Given the description of an element on the screen output the (x, y) to click on. 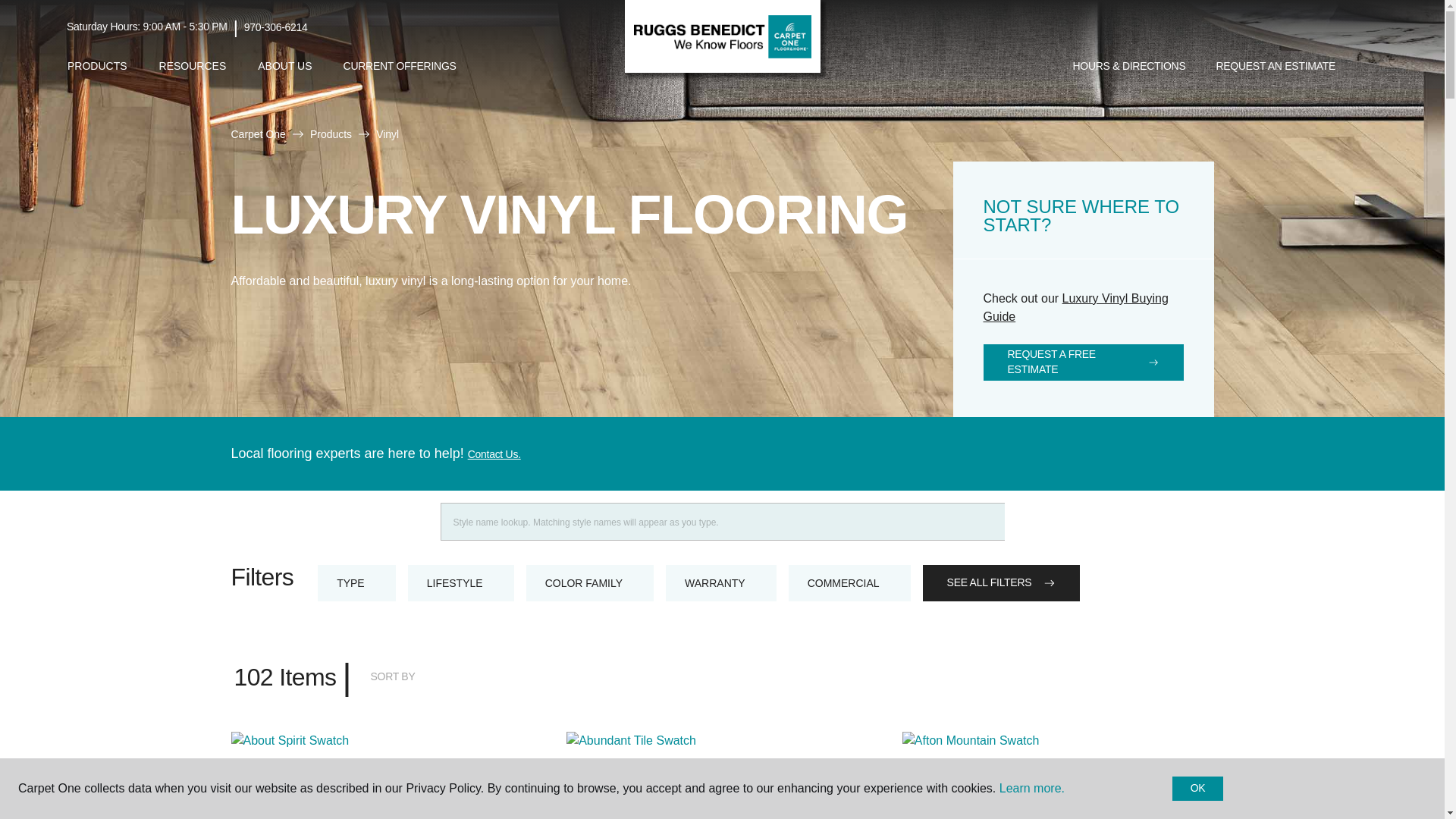
PRODUCTS (97, 66)
ABOUT US (284, 66)
REQUEST AN ESTIMATE (1276, 66)
970-306-6214 (275, 27)
RESOURCES (193, 66)
CURRENT OFFERINGS (399, 66)
